Given the description of an element on the screen output the (x, y) to click on. 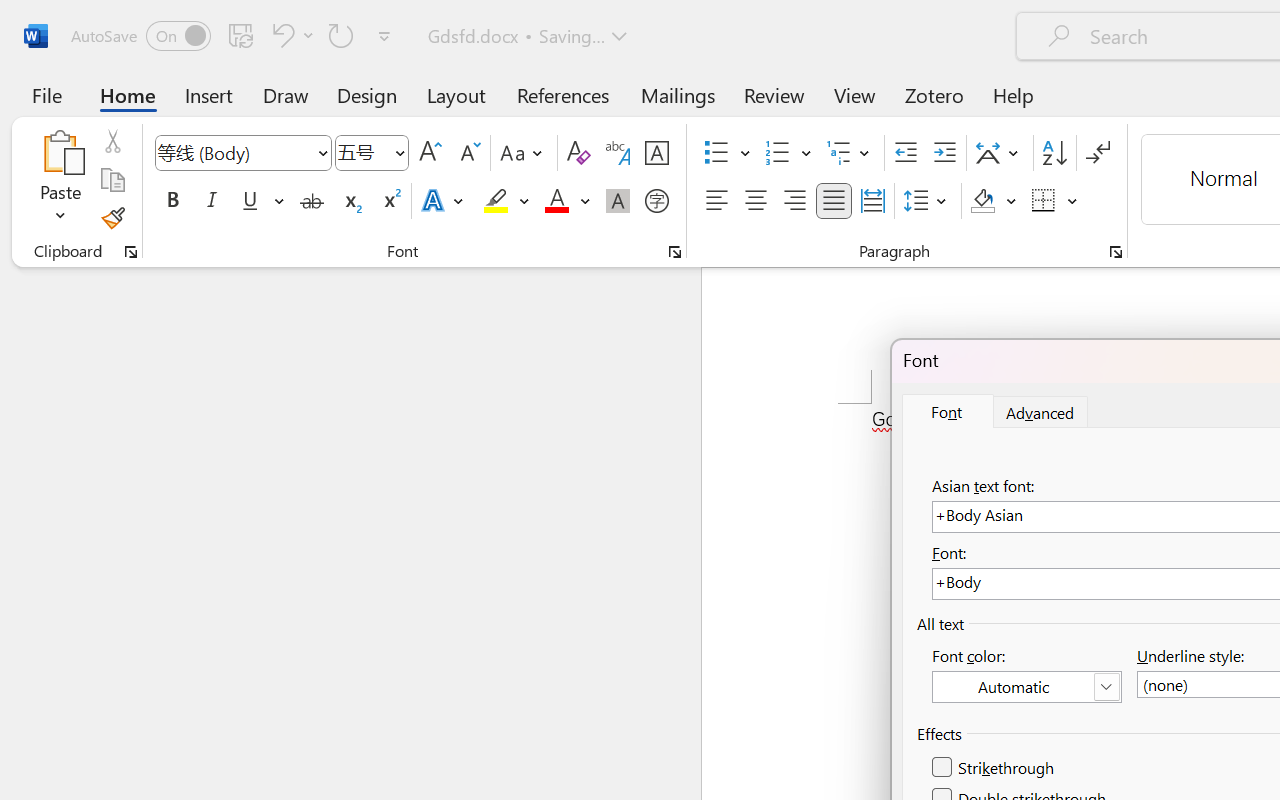
Change Case (524, 153)
Shading RGB(0, 0, 0) (982, 201)
